Given the description of an element on the screen output the (x, y) to click on. 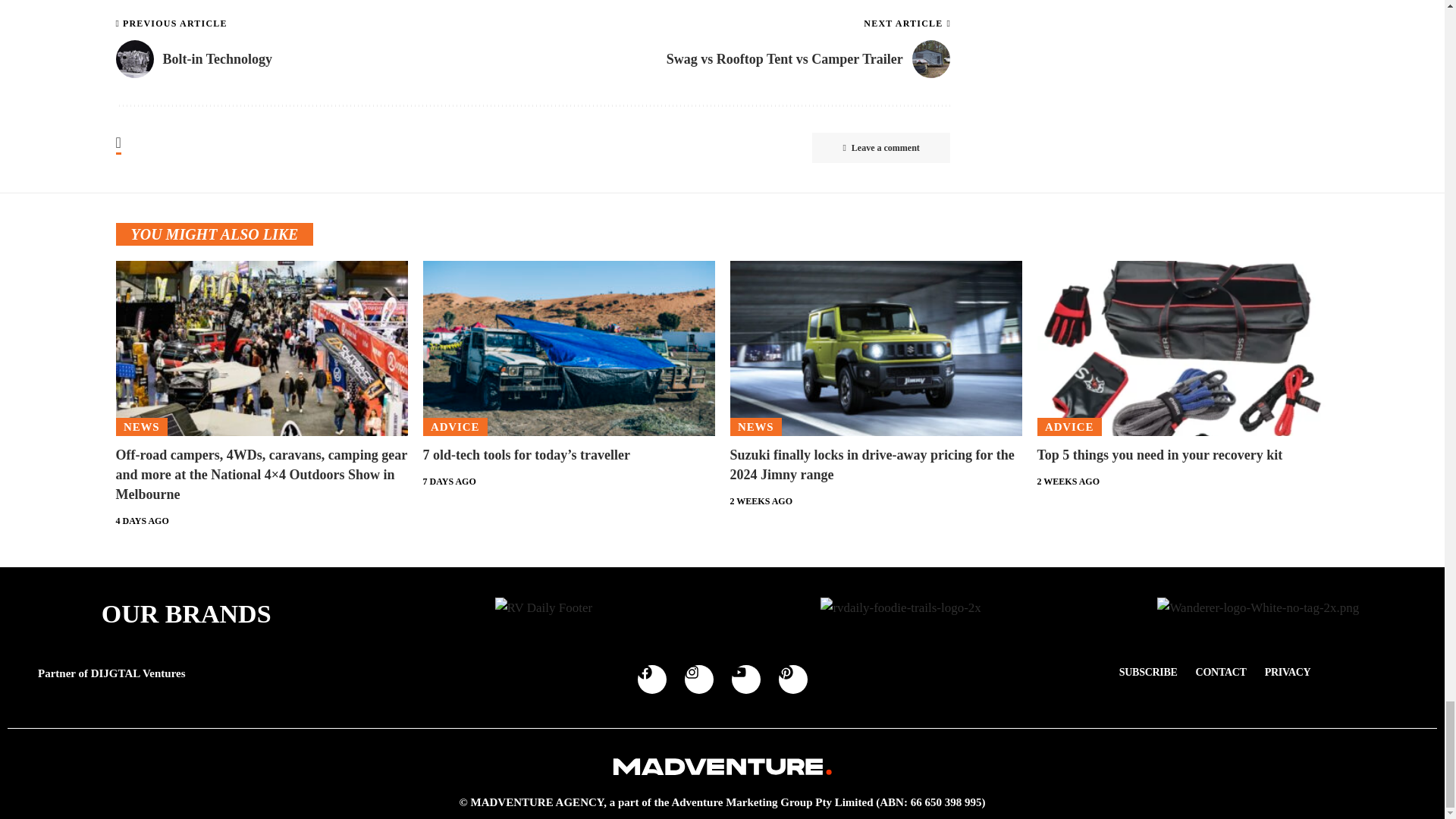
Top 5 things you need in your recovery kit (1182, 348)
rvdaily-foodie-trails-logo-2x (900, 608)
RV Daily Footer (543, 608)
Wanderer-logo-White-no-tag-2x.png (1257, 608)
